Given the description of an element on the screen output the (x, y) to click on. 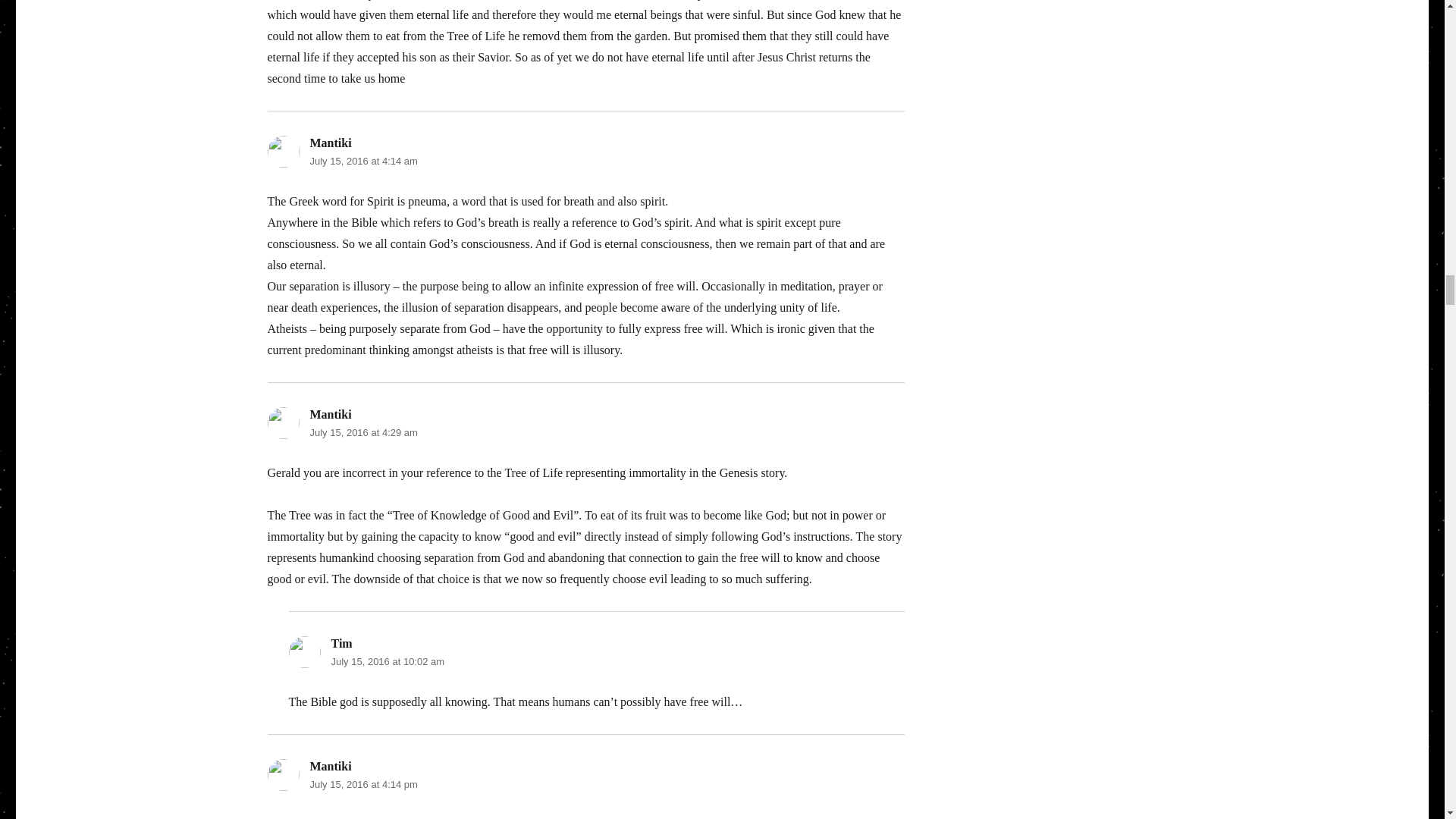
July 15, 2016 at 4:29 am (362, 432)
July 15, 2016 at 10:02 am (387, 661)
July 15, 2016 at 4:14 pm (362, 784)
July 15, 2016 at 4:14 am (362, 161)
